Given the description of an element on the screen output the (x, y) to click on. 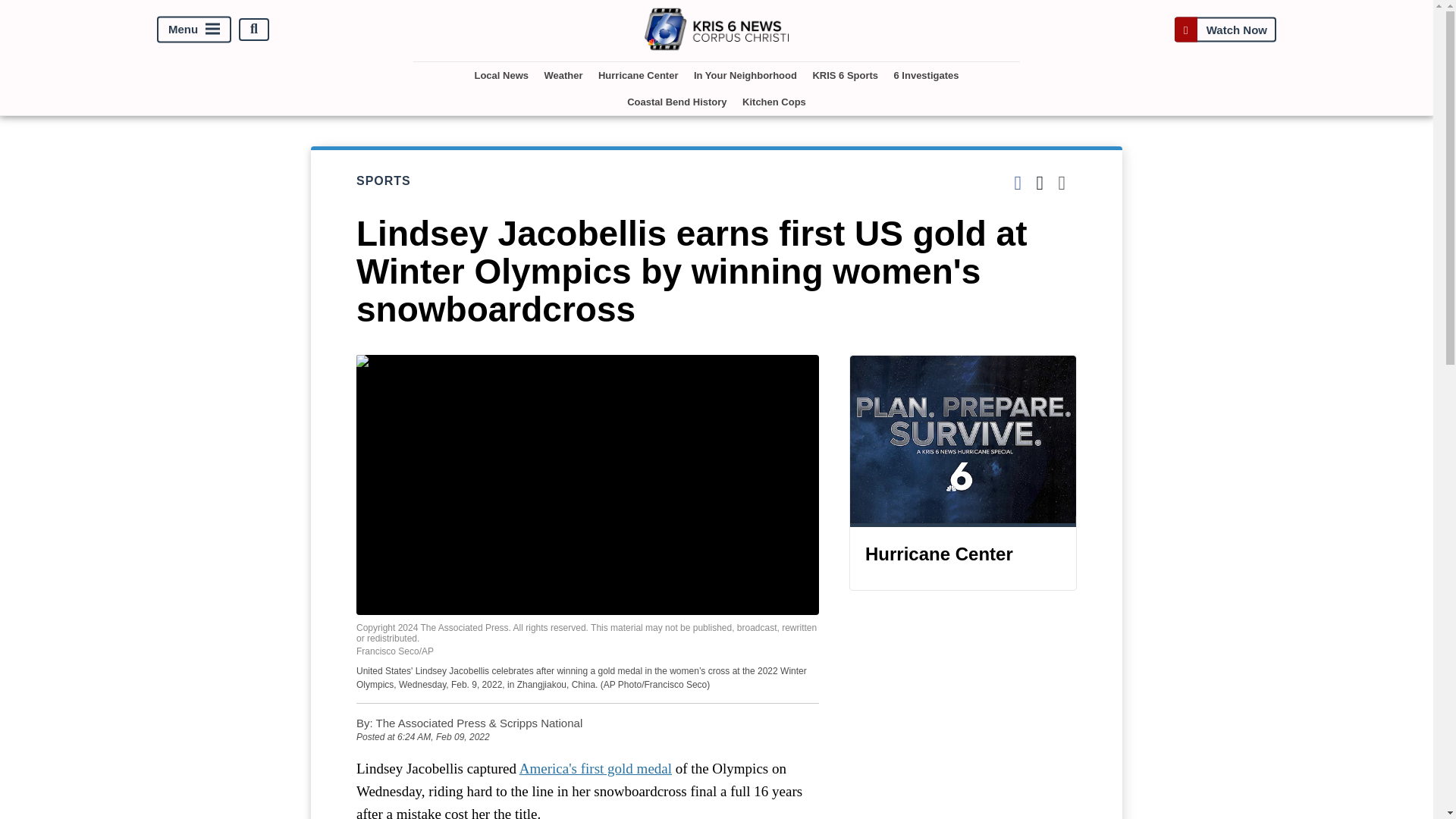
Menu (194, 28)
Watch Now (1224, 29)
